Given the description of an element on the screen output the (x, y) to click on. 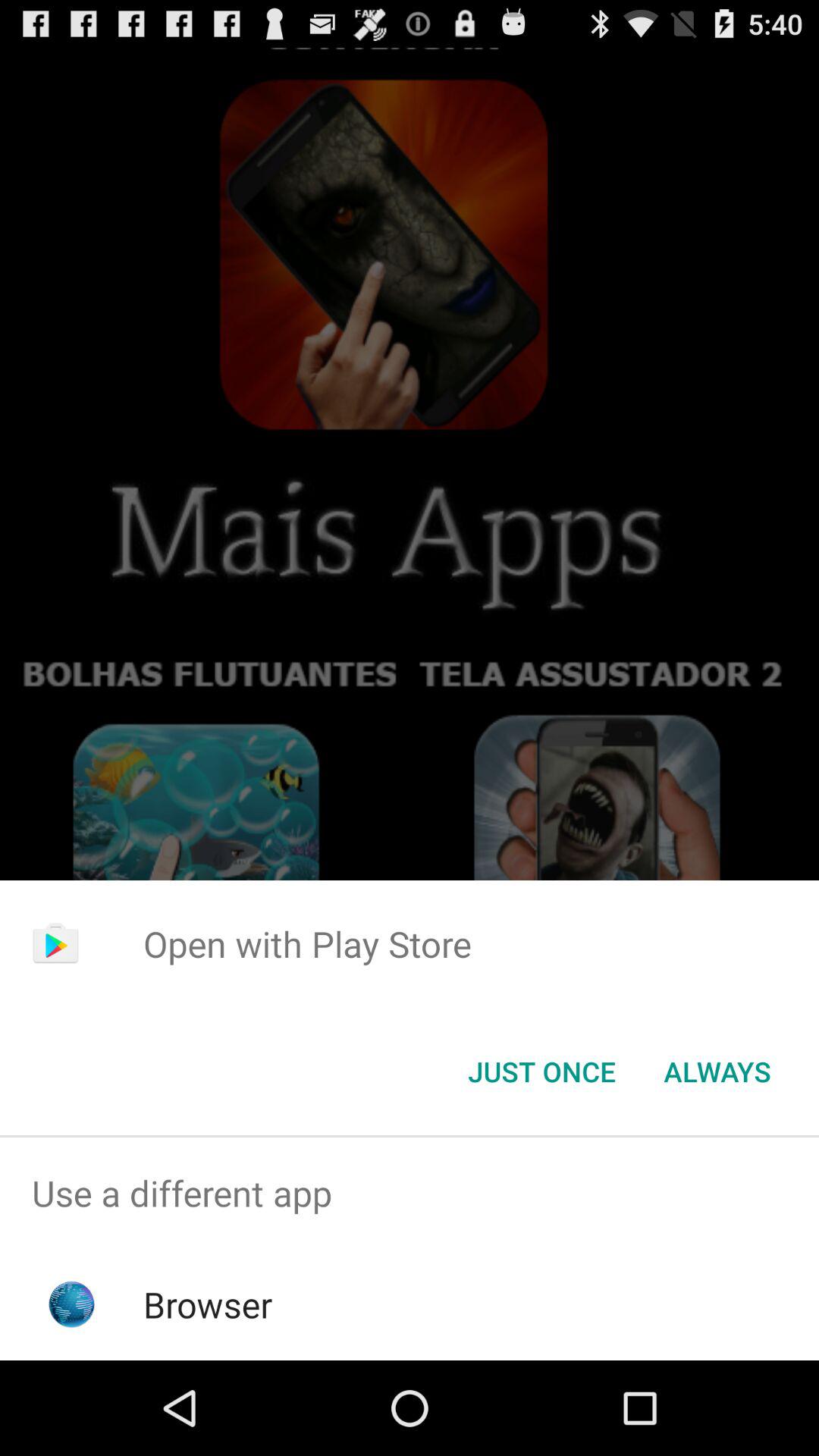
select button to the right of the just once button (717, 1071)
